Given the description of an element on the screen output the (x, y) to click on. 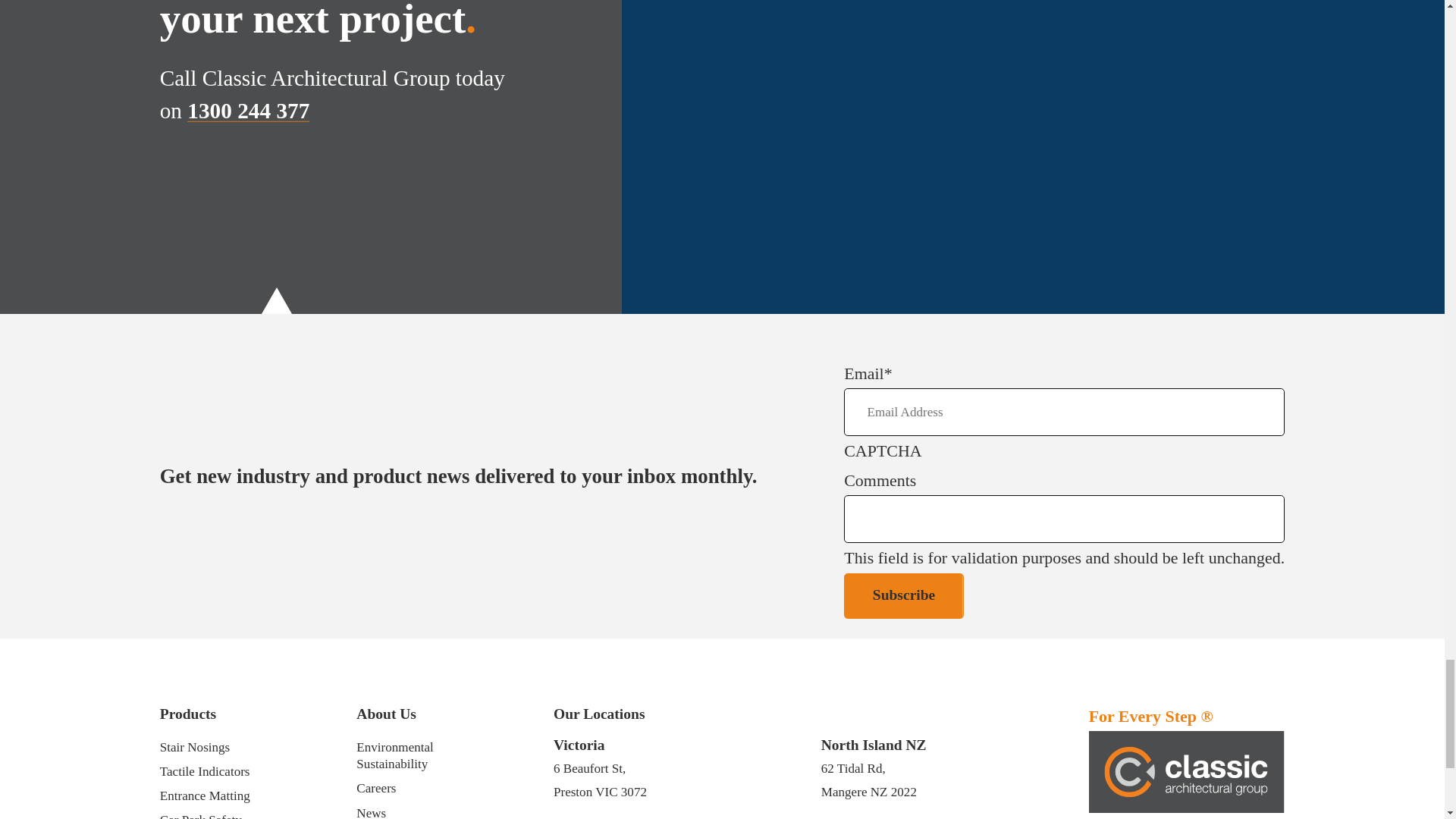
Subscribe (903, 596)
